Given the description of an element on the screen output the (x, y) to click on. 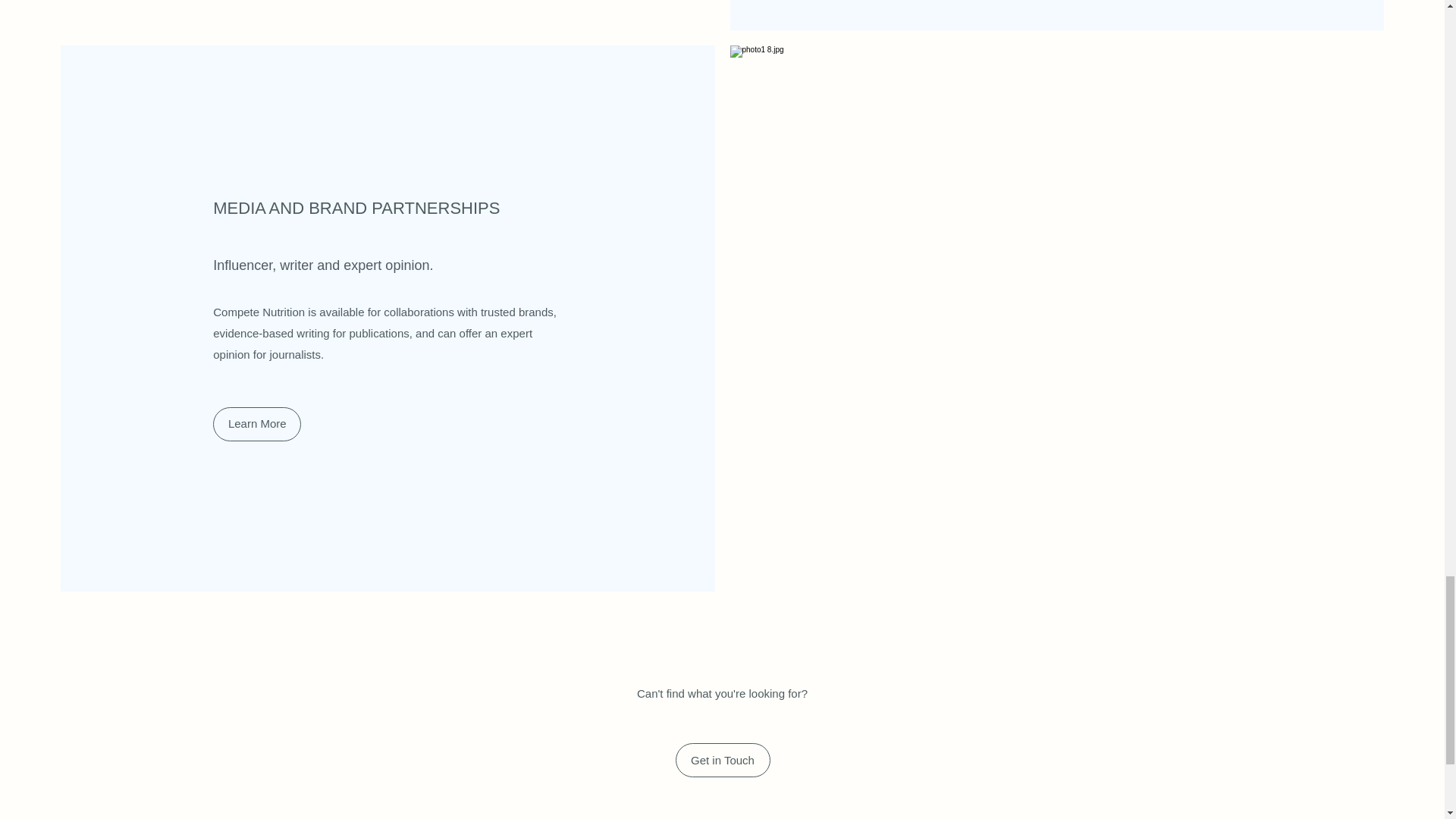
Get in Touch (722, 759)
Learn More (256, 424)
